Given the description of an element on the screen output the (x, y) to click on. 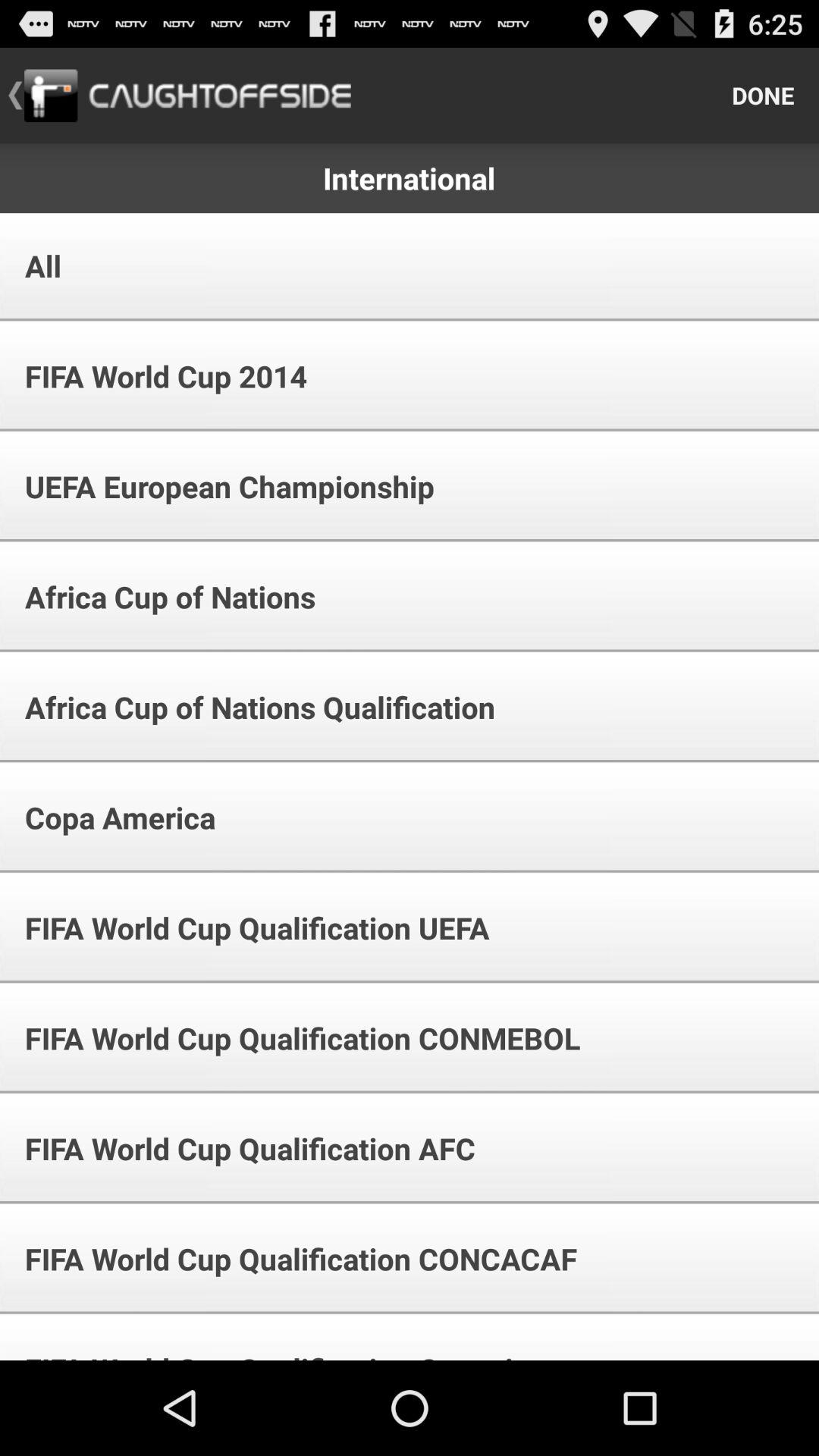
select the app above africa cup of icon (219, 486)
